Given the description of an element on the screen output the (x, y) to click on. 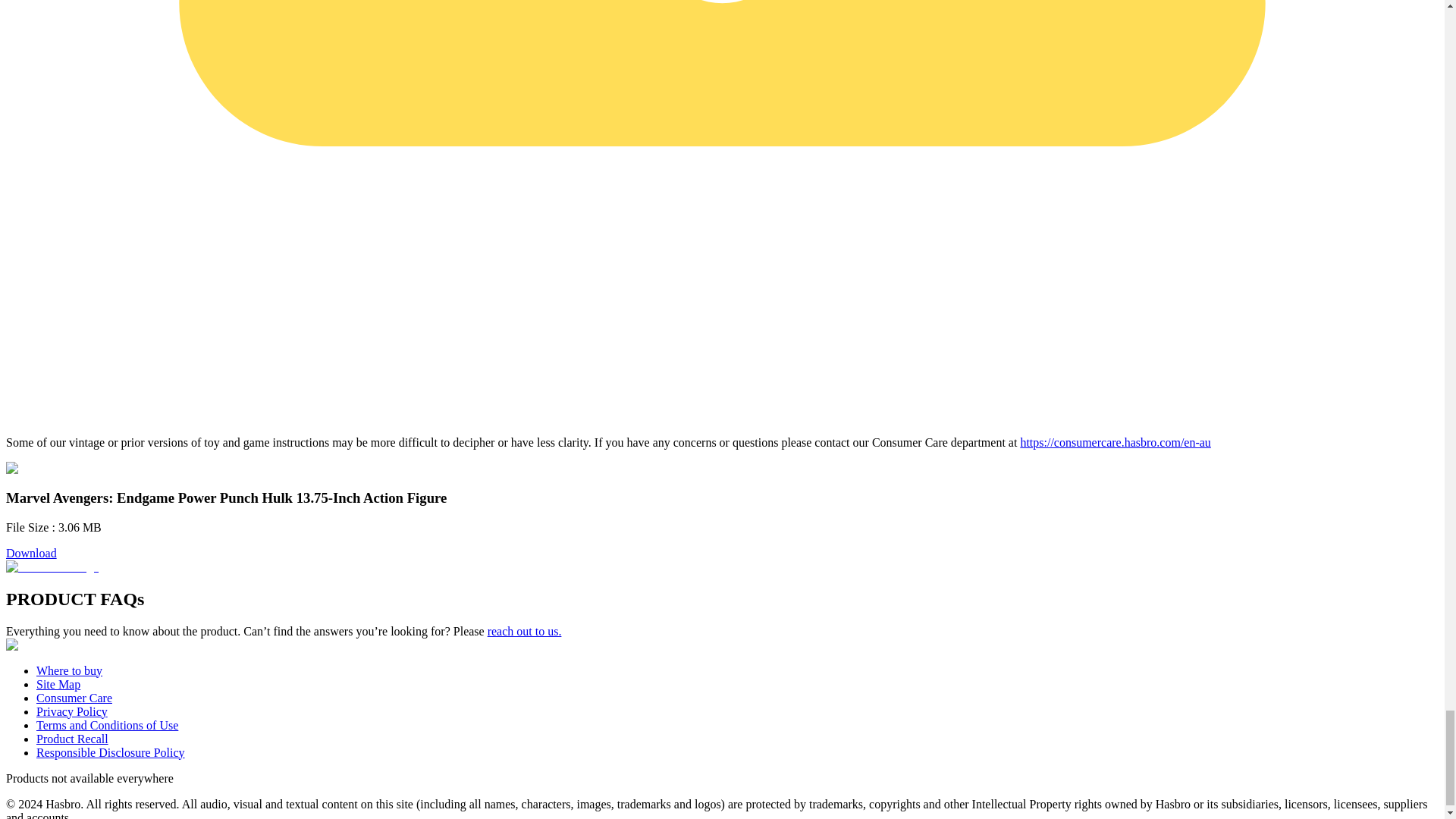
Terms and Conditions of Use (106, 725)
Site Map (58, 684)
Consumer Care (74, 697)
Where to buy (68, 670)
Privacy Policy (71, 711)
reach out to us. (524, 631)
Responsible Disclosure Policy (110, 752)
Product Recall (71, 738)
